Given the description of an element on the screen output the (x, y) to click on. 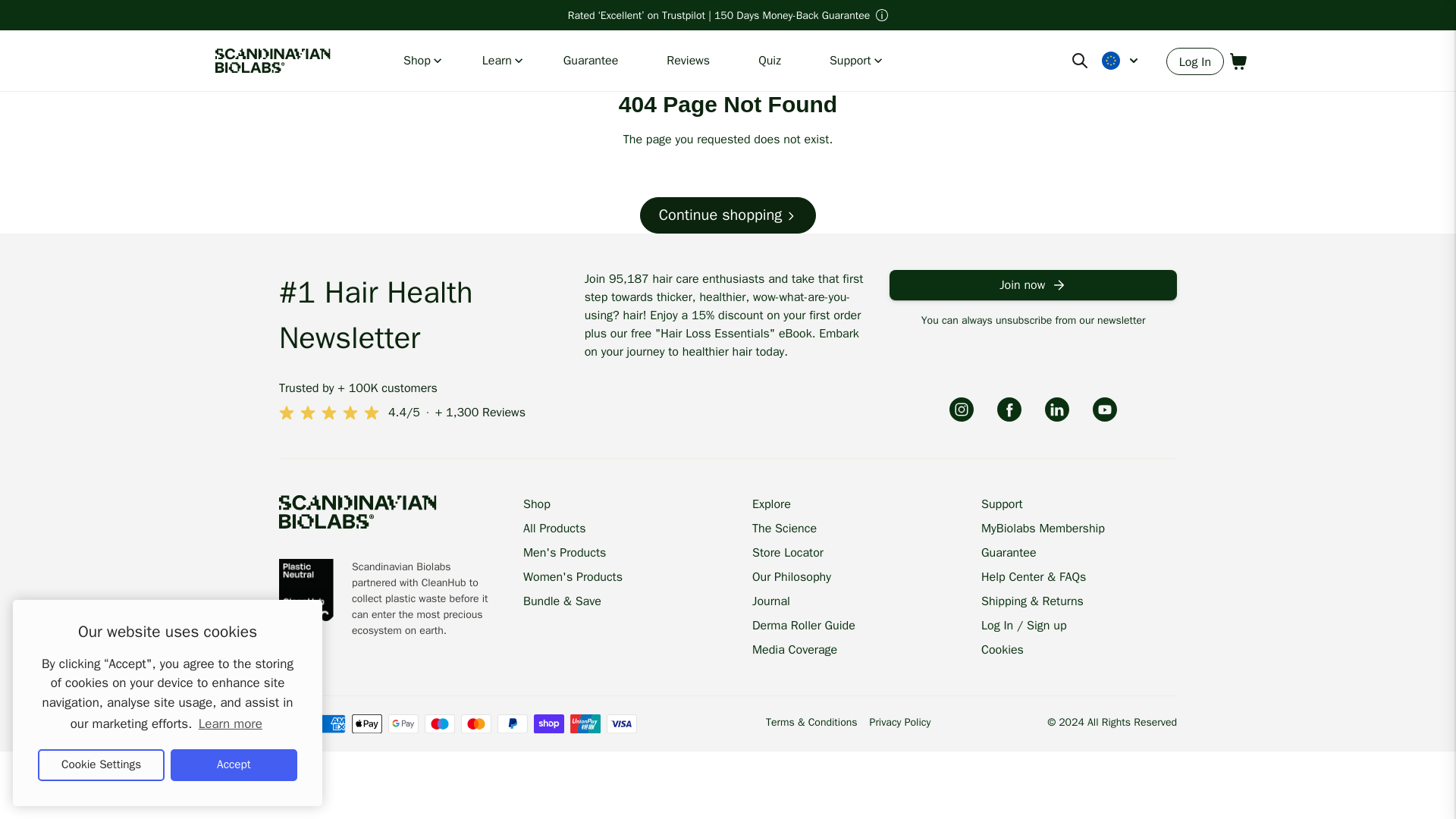
Learn more (229, 723)
Cookie Settings (100, 765)
Accept (233, 765)
